Given the description of an element on the screen output the (x, y) to click on. 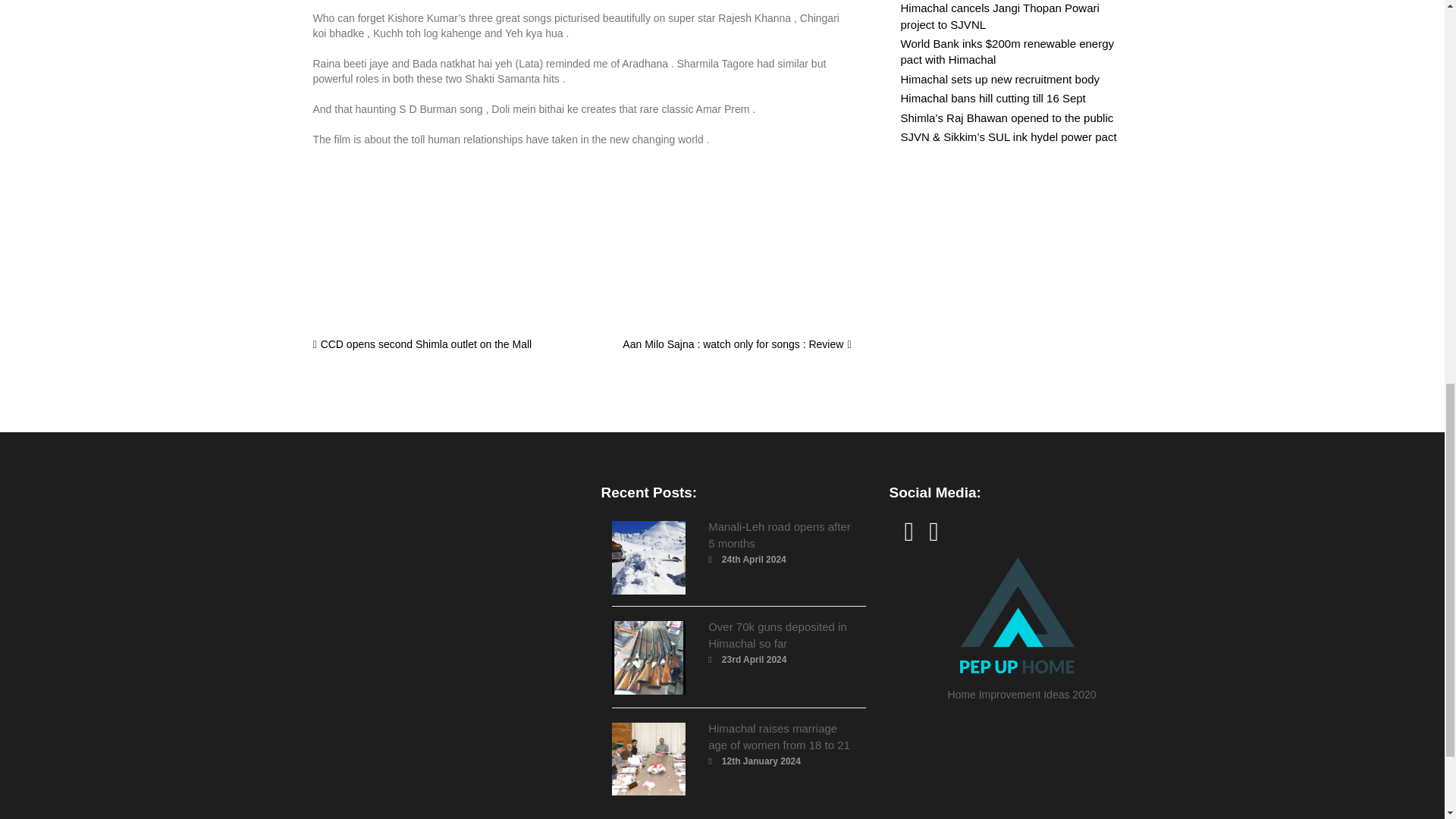
Aan Milo Sajna : watch only for songs : Review (736, 344)
Over 70k guns deposited in Himachal so far (777, 634)
Manali-Leh road opens after 5 months (778, 534)
Himachal cancels Jangi Thopan Powari project to SJVNL (1000, 15)
CCD opens second Shimla outlet on the Mall (422, 344)
Himachal raises marriage age of women from 18 to 21 (778, 736)
Home Improvement Ideas 2020 (1021, 624)
Himachal sets up new recruitment body (1000, 78)
Himachal bans hill cutting till 16 Sept (993, 97)
